Given the description of an element on the screen output the (x, y) to click on. 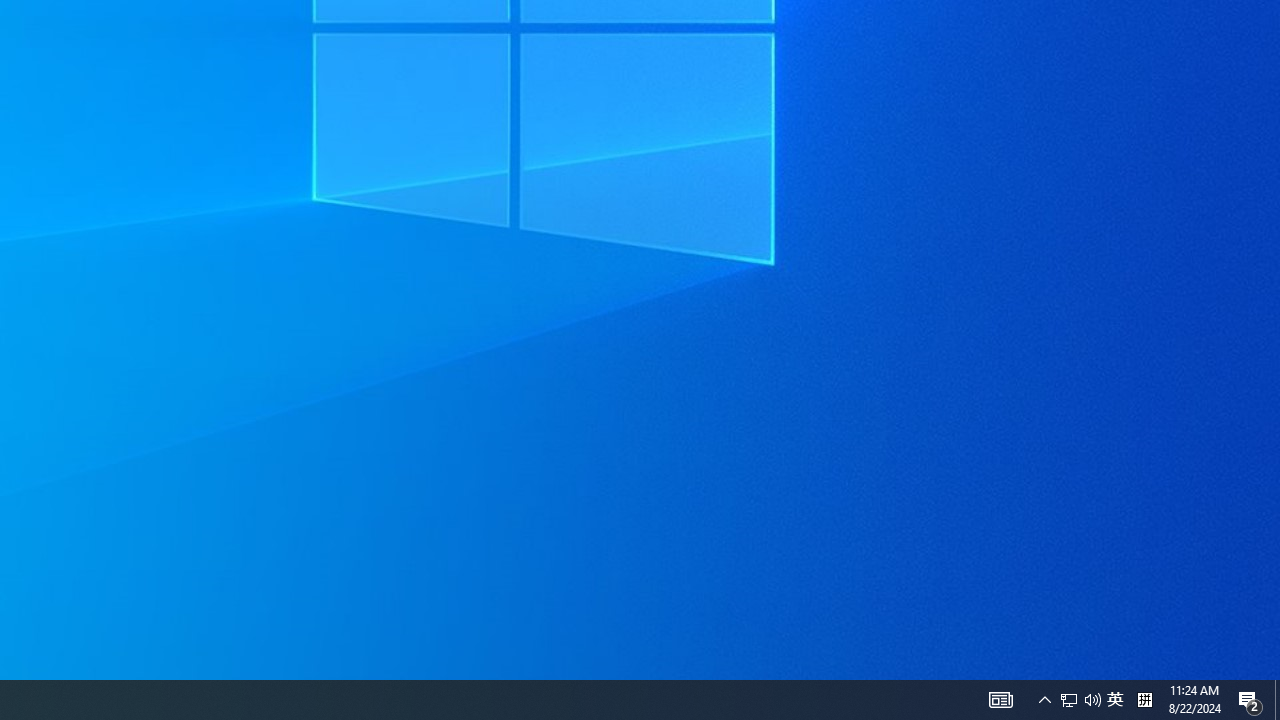
User Promoted Notification Area (1115, 699)
Q2790: 100% (1069, 699)
Action Center, 2 new notifications (1080, 699)
Notification Chevron (1092, 699)
Tray Input Indicator - Chinese (Simplified, China) (1250, 699)
AutomationID: 4105 (1044, 699)
Show desktop (1144, 699)
